Given the description of an element on the screen output the (x, y) to click on. 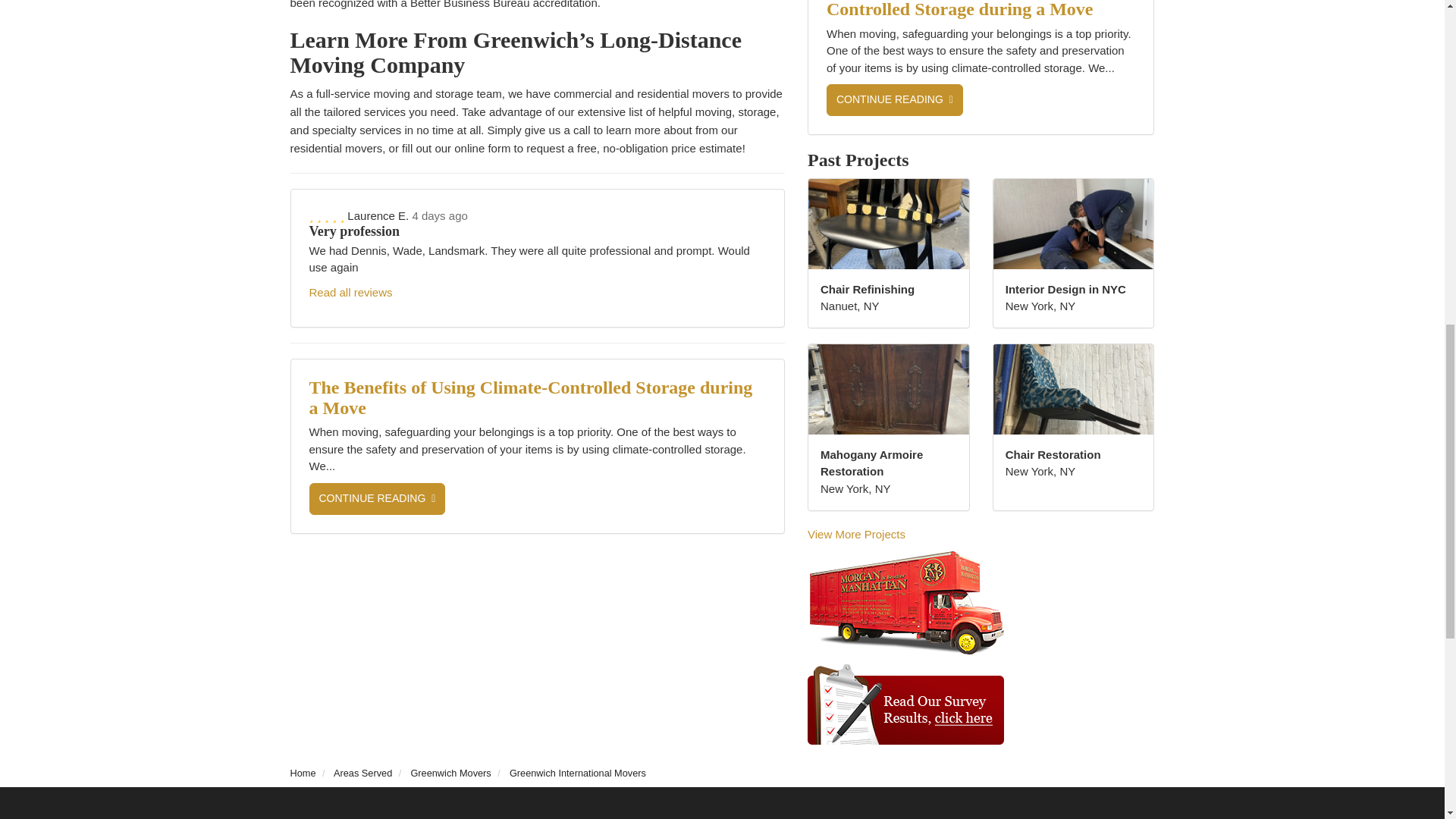
New York, NY Interior Design Project (1073, 224)
5 Stars (327, 215)
